Given the description of an element on the screen output the (x, y) to click on. 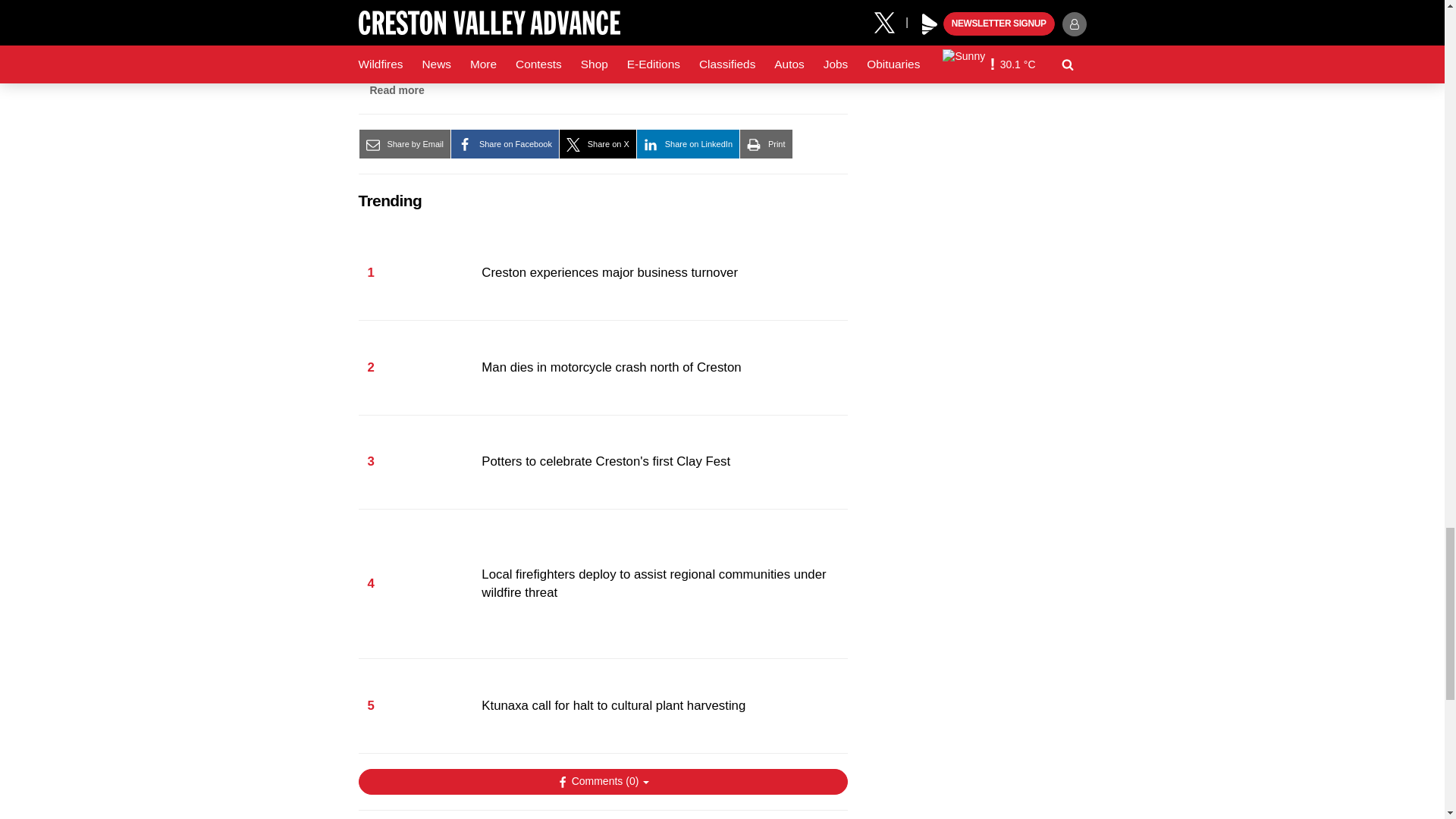
Show Comments (602, 781)
